Given the description of an element on the screen output the (x, y) to click on. 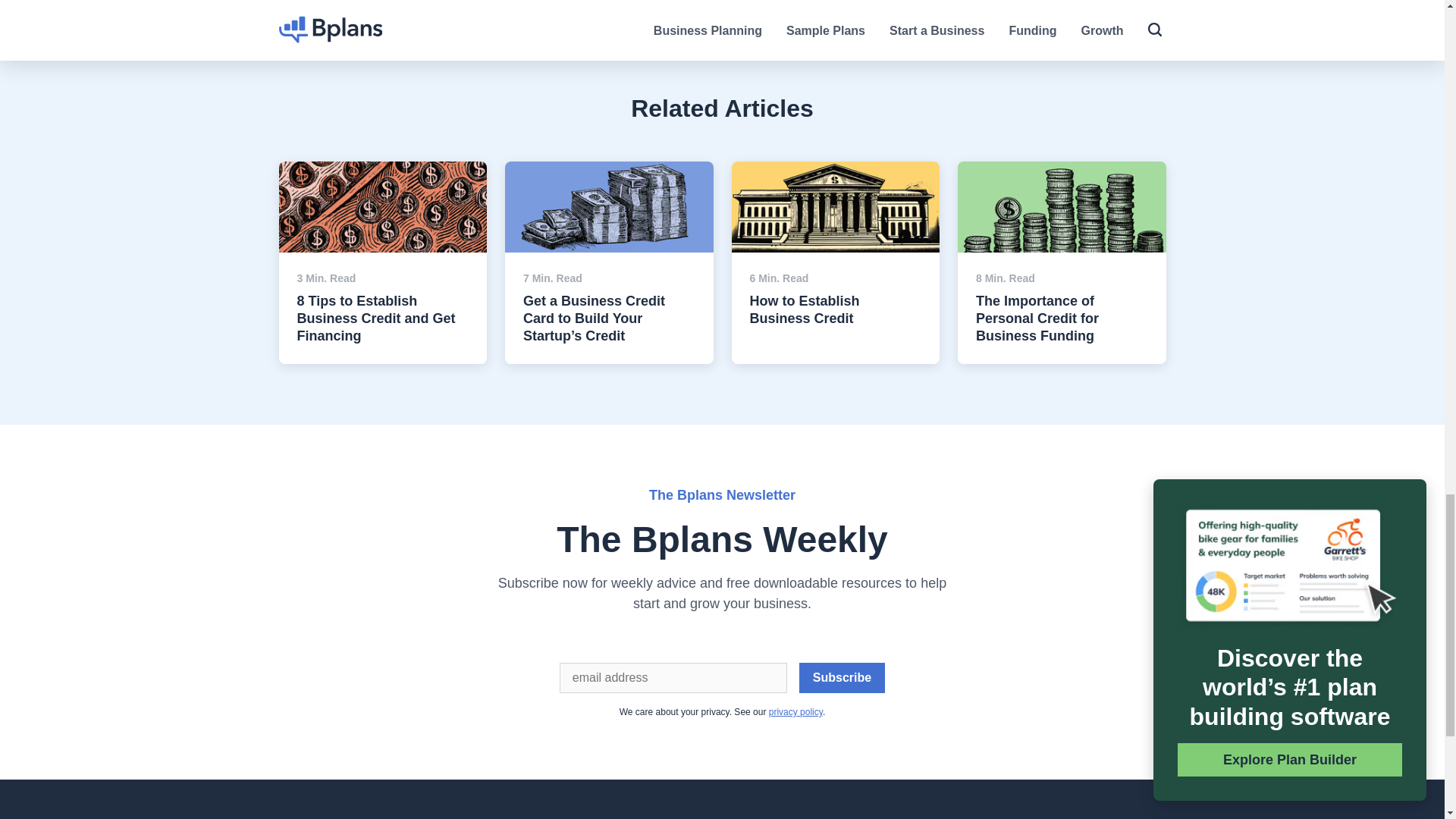
Subscribe (842, 677)
Tips to establish business credit and get financing (383, 206)
How to build business credit (834, 206)
Get a business credit card to build startup credit (609, 206)
Why you need to care about personal credit (1062, 206)
